Given the description of an element on the screen output the (x, y) to click on. 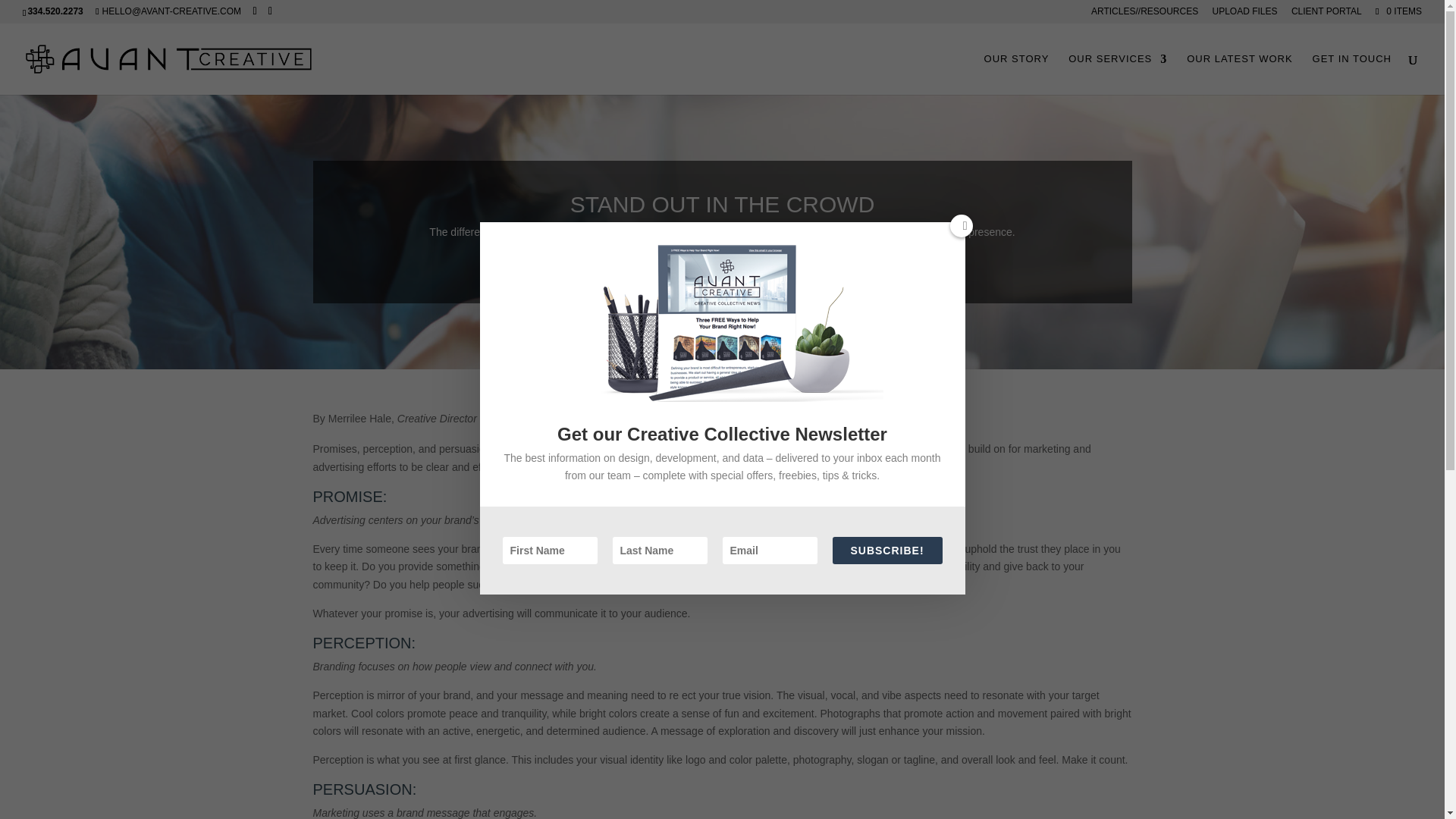
GET IN TOUCH (1352, 74)
OUR SERVICES (1117, 74)
CLIENT PORTAL (1326, 14)
0 ITEMS (1397, 10)
OUR LATEST WORK (1239, 74)
UPLOAD FILES (1243, 14)
OUR STORY (1016, 74)
